Given the description of an element on the screen output the (x, y) to click on. 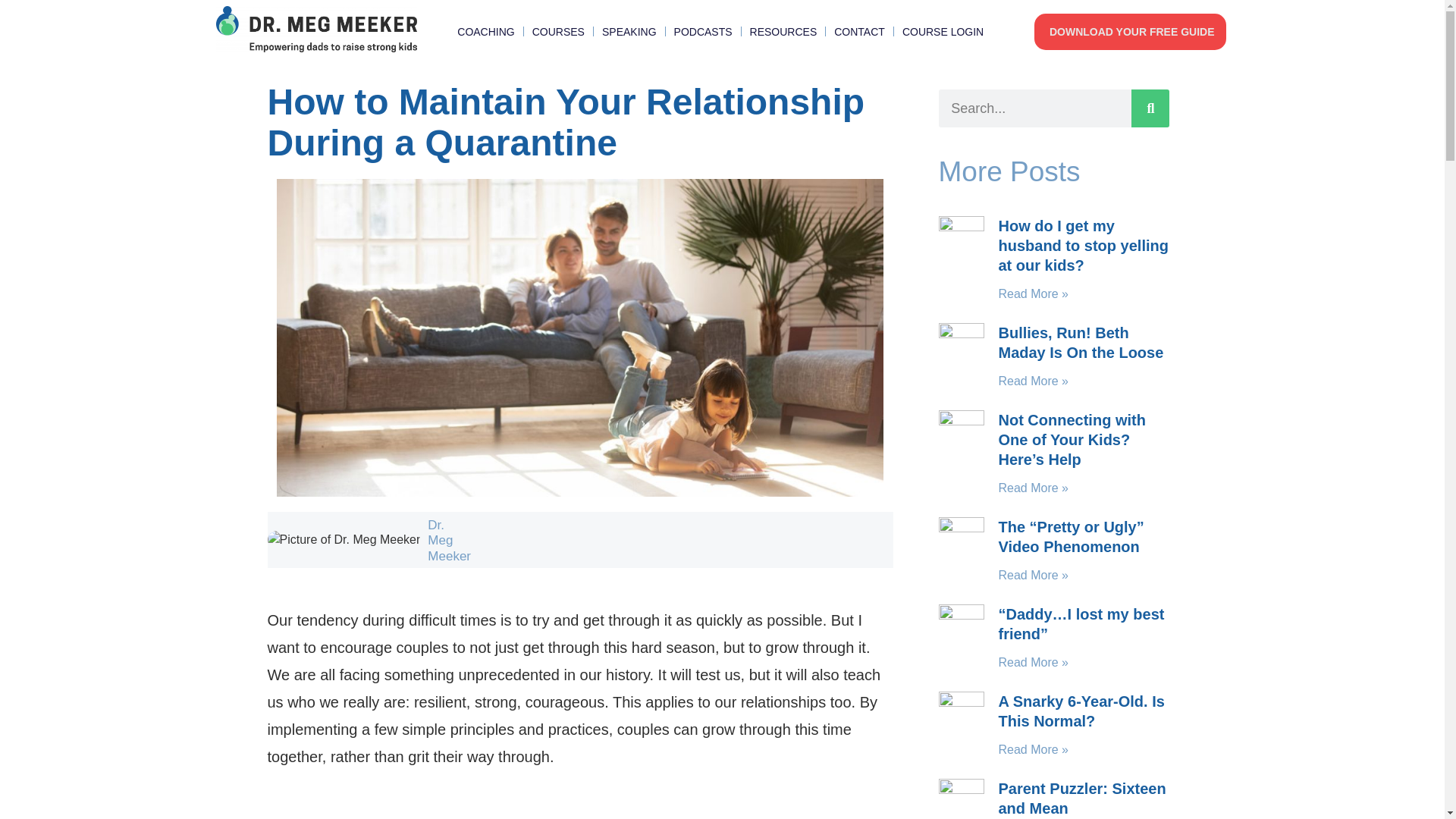
COURSES (558, 31)
COURSE LOGIN (943, 31)
COACHING (485, 31)
CONTACT (859, 31)
SPEAKING (629, 31)
PODCASTS (703, 31)
RESOURCES (782, 31)
